Given the description of an element on the screen output the (x, y) to click on. 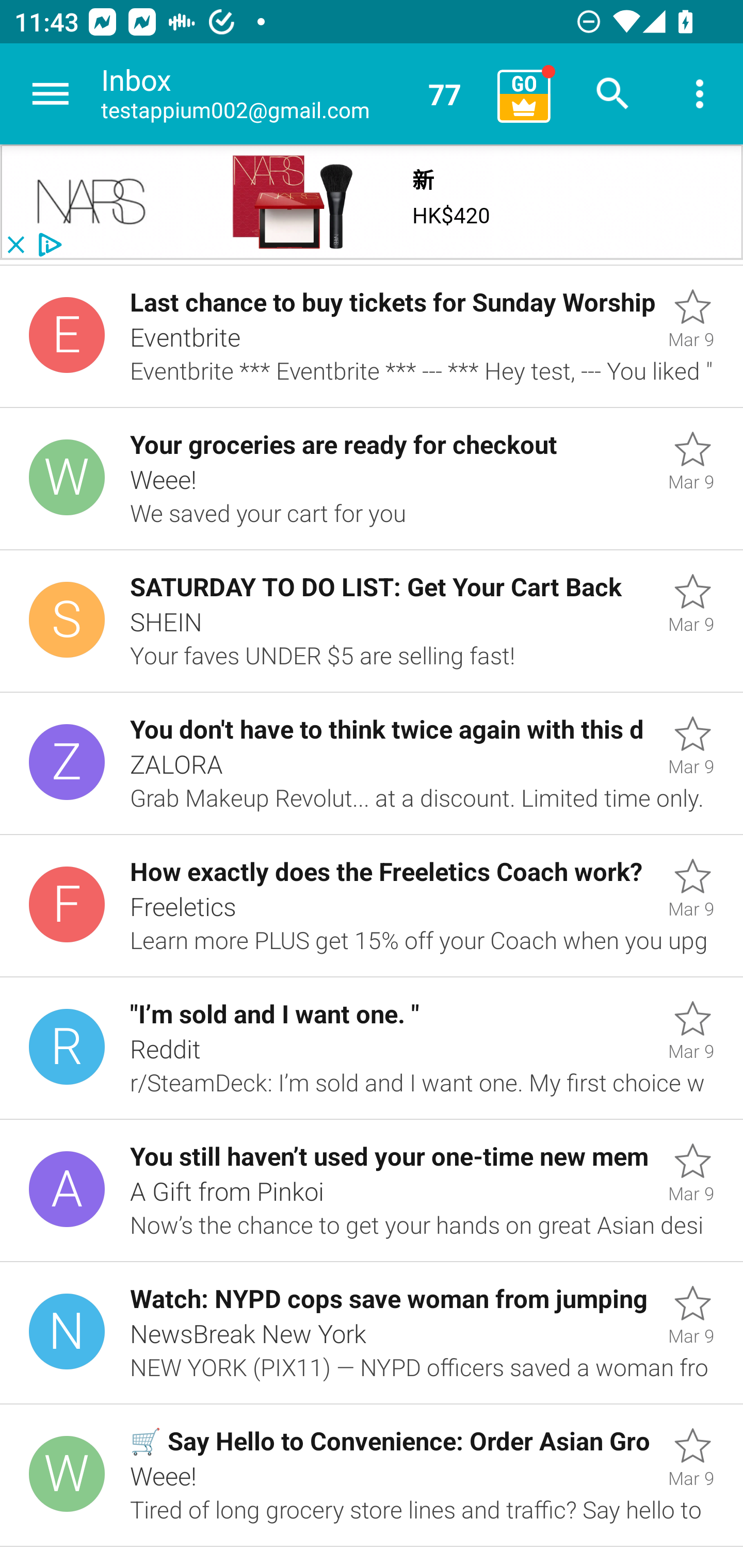
Navigate up (50, 93)
Inbox testappium002@gmail.com 77 (291, 93)
Search (612, 93)
More options (699, 93)
   (91, 202)
 新年限量版LIGHT REFLECTIN… HK$420          新 HK$420 (460, 202)
close_button (14, 245)
privacy_small (47, 245)
